Given the description of an element on the screen output the (x, y) to click on. 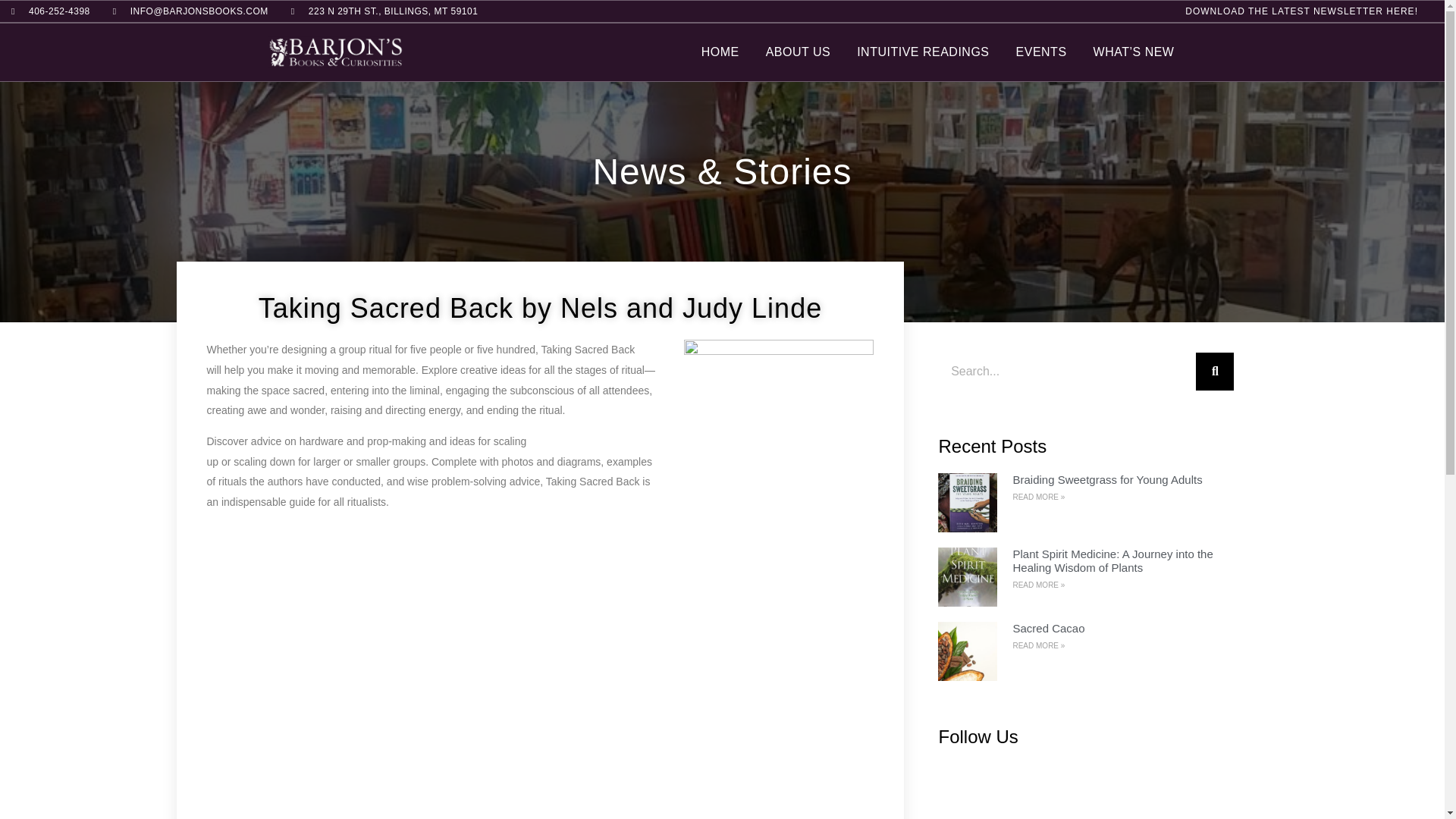
HOME (720, 51)
INTUITIVE READINGS (922, 51)
ABOUT US (798, 51)
406-252-4398 (50, 10)
EVENTS (1041, 51)
Sacred Cacao (1047, 627)
Braiding Sweetgrass for Young Adults (1106, 479)
223 N 29TH ST., BILLINGS, MT 59101 (385, 10)
DOWNLOAD THE LATEST NEWSLETTER HERE! (1301, 11)
